Given the description of an element on the screen output the (x, y) to click on. 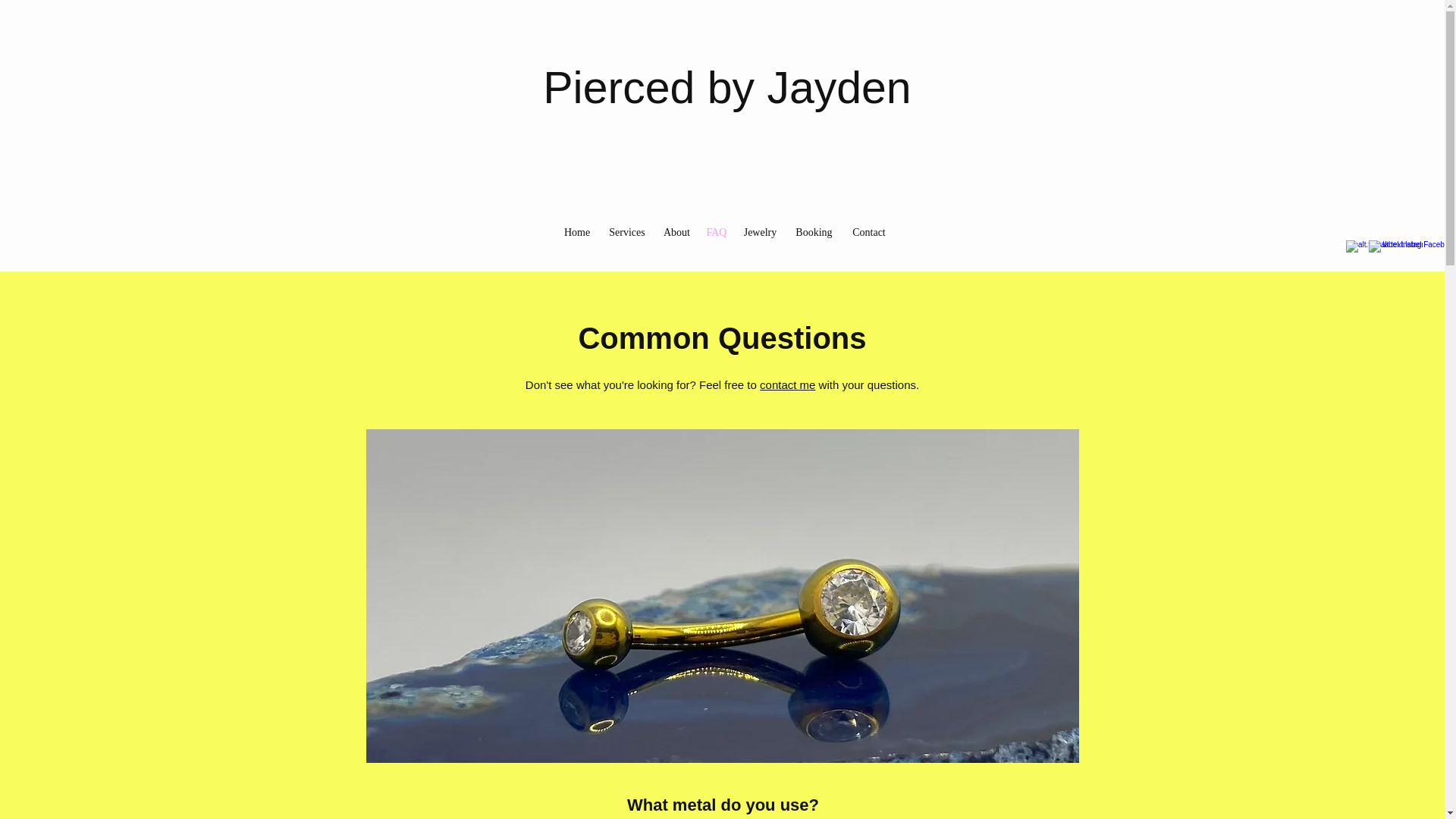
Services (625, 232)
FAQ (715, 232)
About (675, 232)
Jewelry (759, 232)
Booking (813, 232)
Contact (868, 232)
Home (576, 232)
contact me (787, 384)
